Given the description of an element on the screen output the (x, y) to click on. 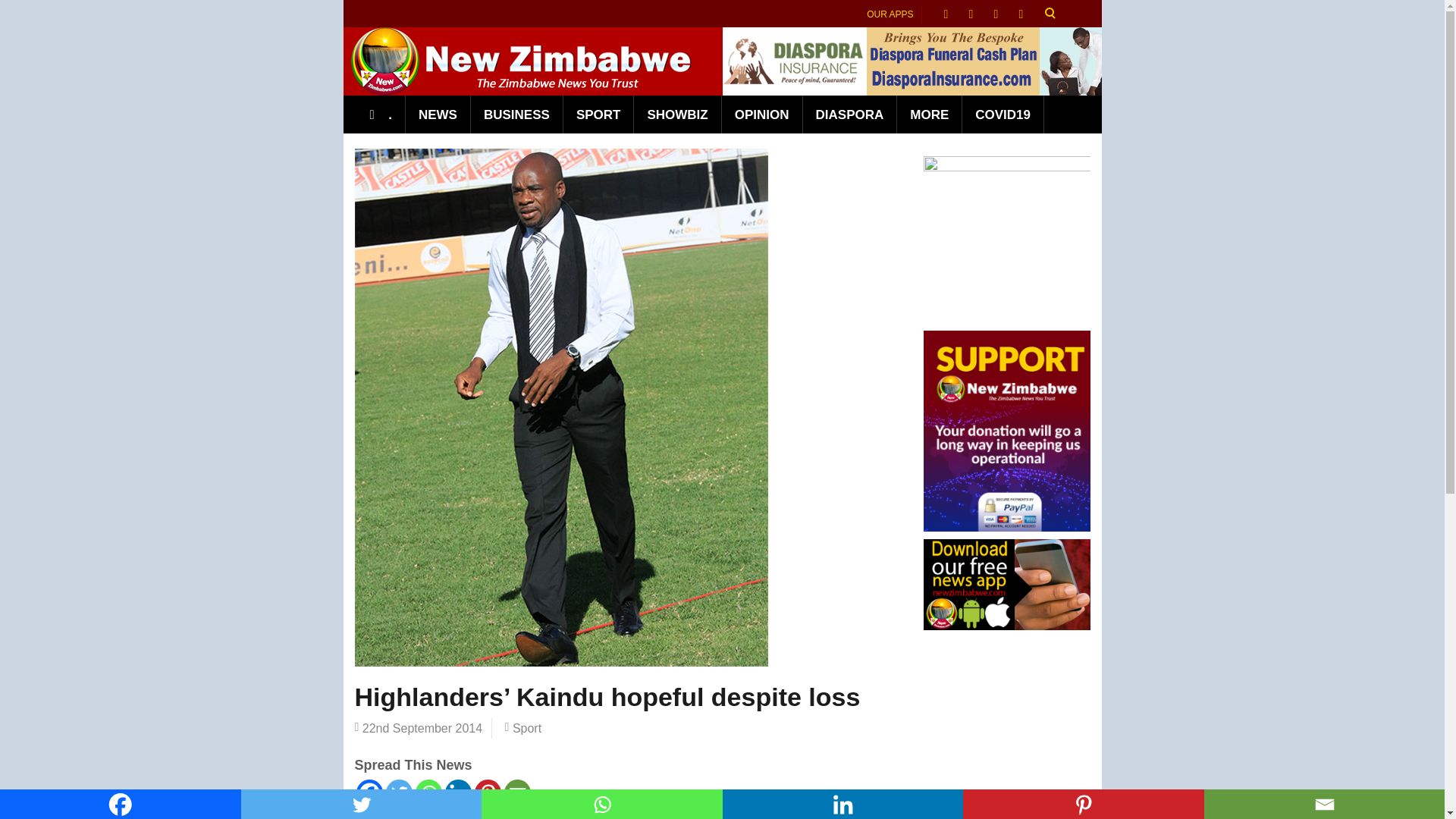
Email (516, 792)
OPINION (762, 114)
Facebook (369, 792)
 . (380, 114)
Twitter (398, 792)
Pinterest (1083, 804)
Linkedin (842, 804)
NEWS (438, 114)
Pinterest (487, 792)
SPORT (598, 114)
